Given the description of an element on the screen output the (x, y) to click on. 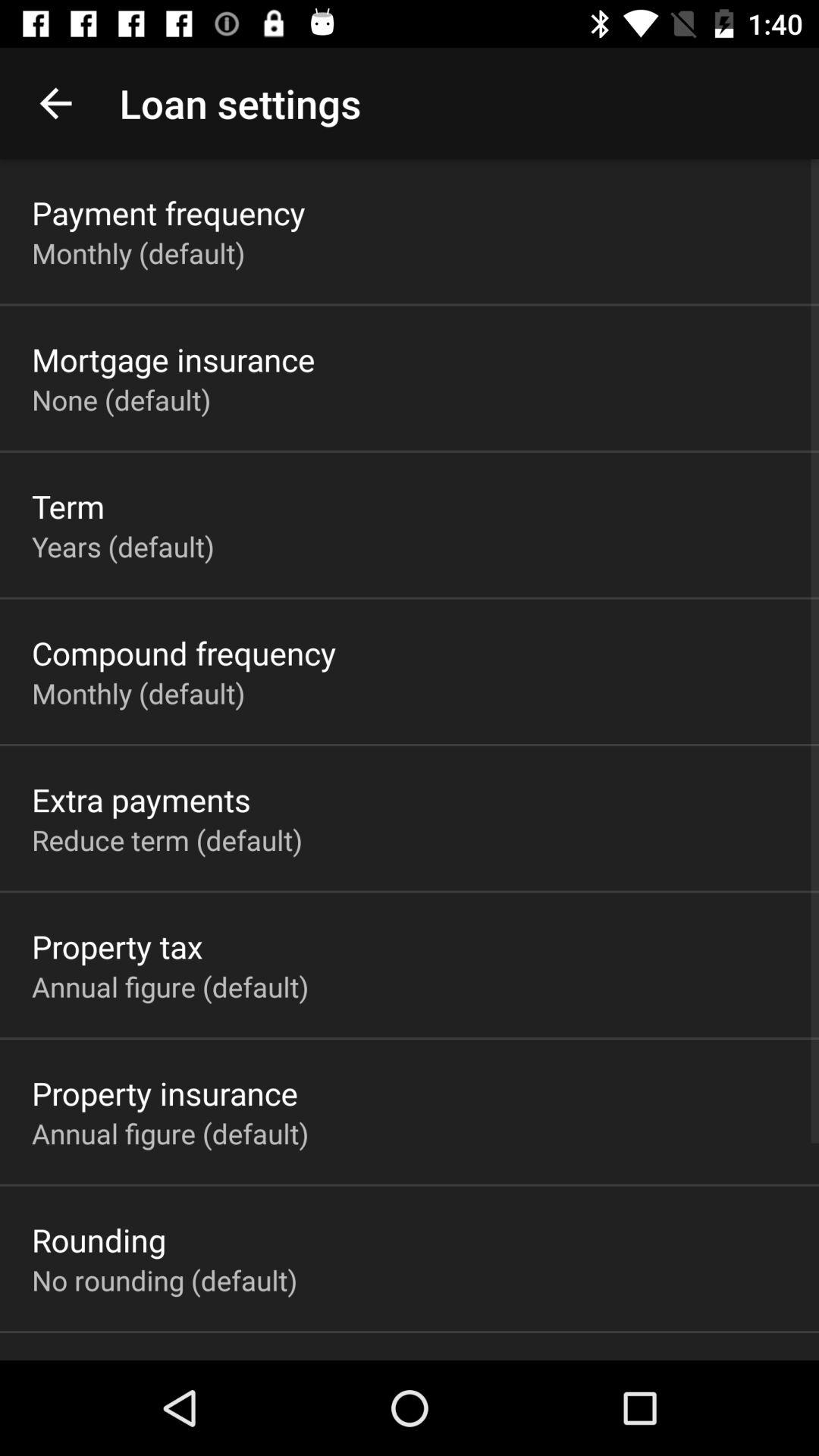
jump to the years (default) (122, 546)
